Given the description of an element on the screen output the (x, y) to click on. 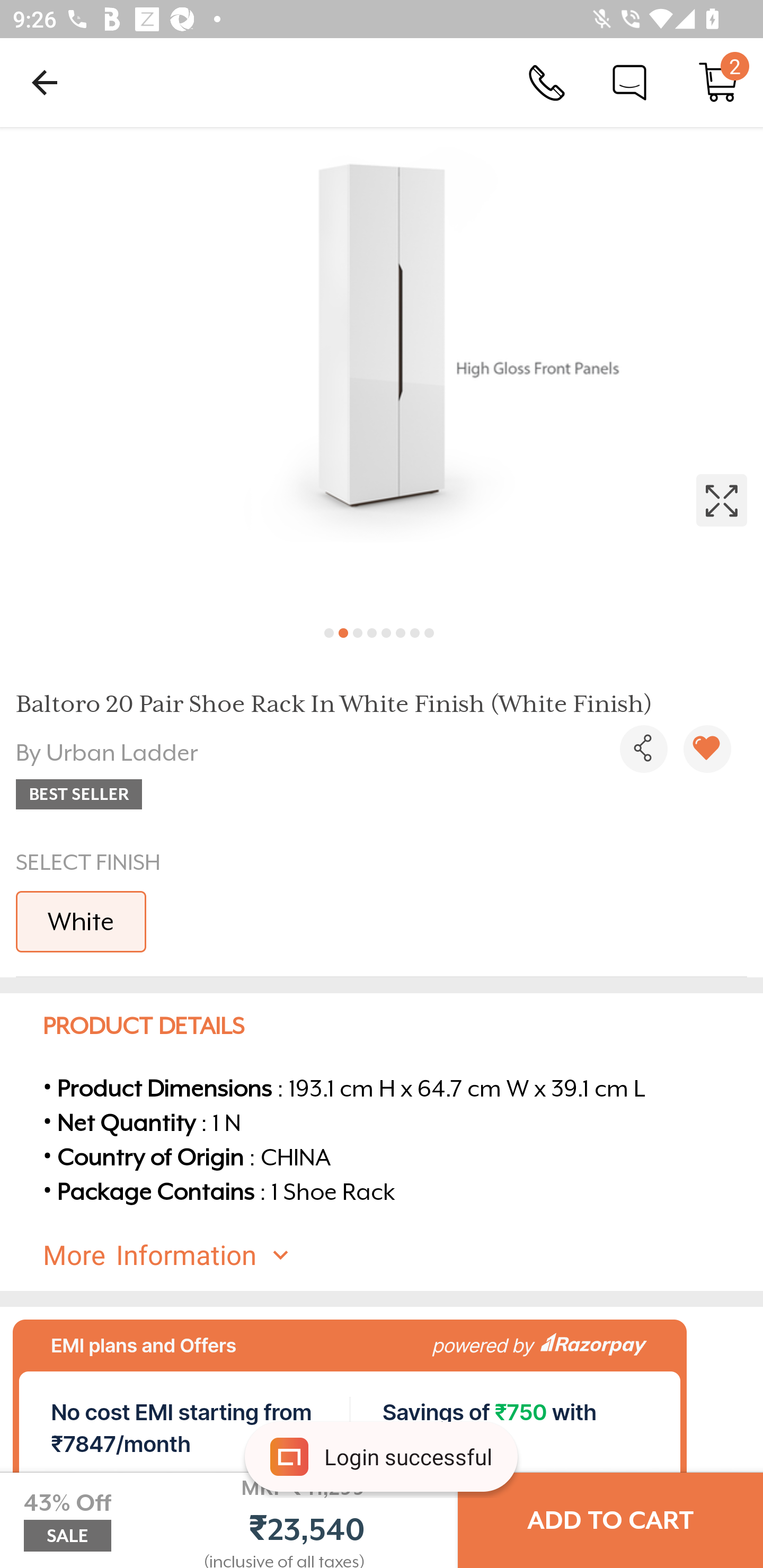
Navigate up (44, 82)
Call Us (546, 81)
Chat (629, 81)
Cart (718, 81)
 (381, 370)
 (643, 748)
 (706, 748)
White (81, 920)
More Information  (396, 1255)
ADD TO CART (610, 1520)
